Given the description of an element on the screen output the (x, y) to click on. 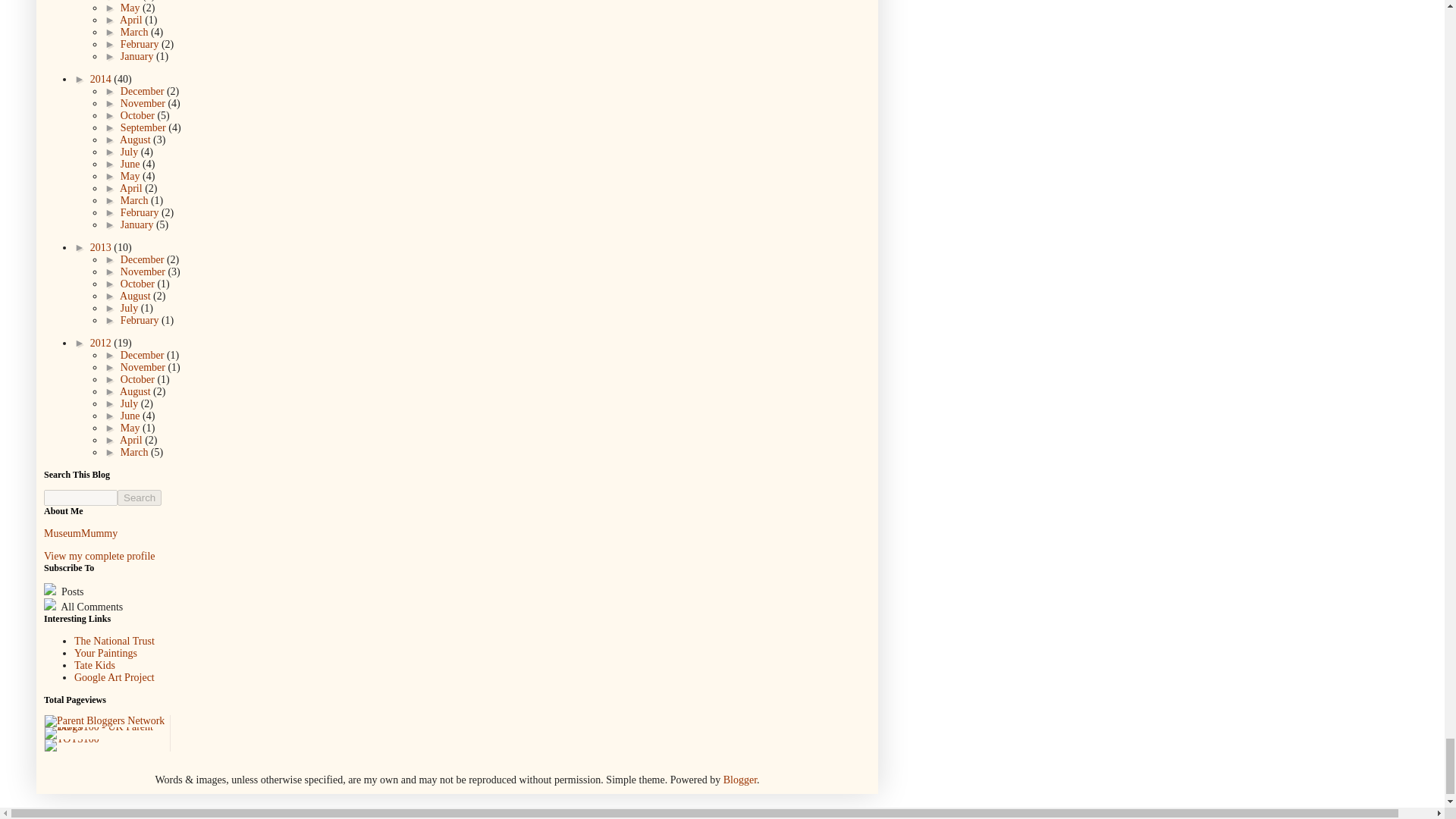
Search (139, 497)
Search (139, 497)
